Given the description of an element on the screen output the (x, y) to click on. 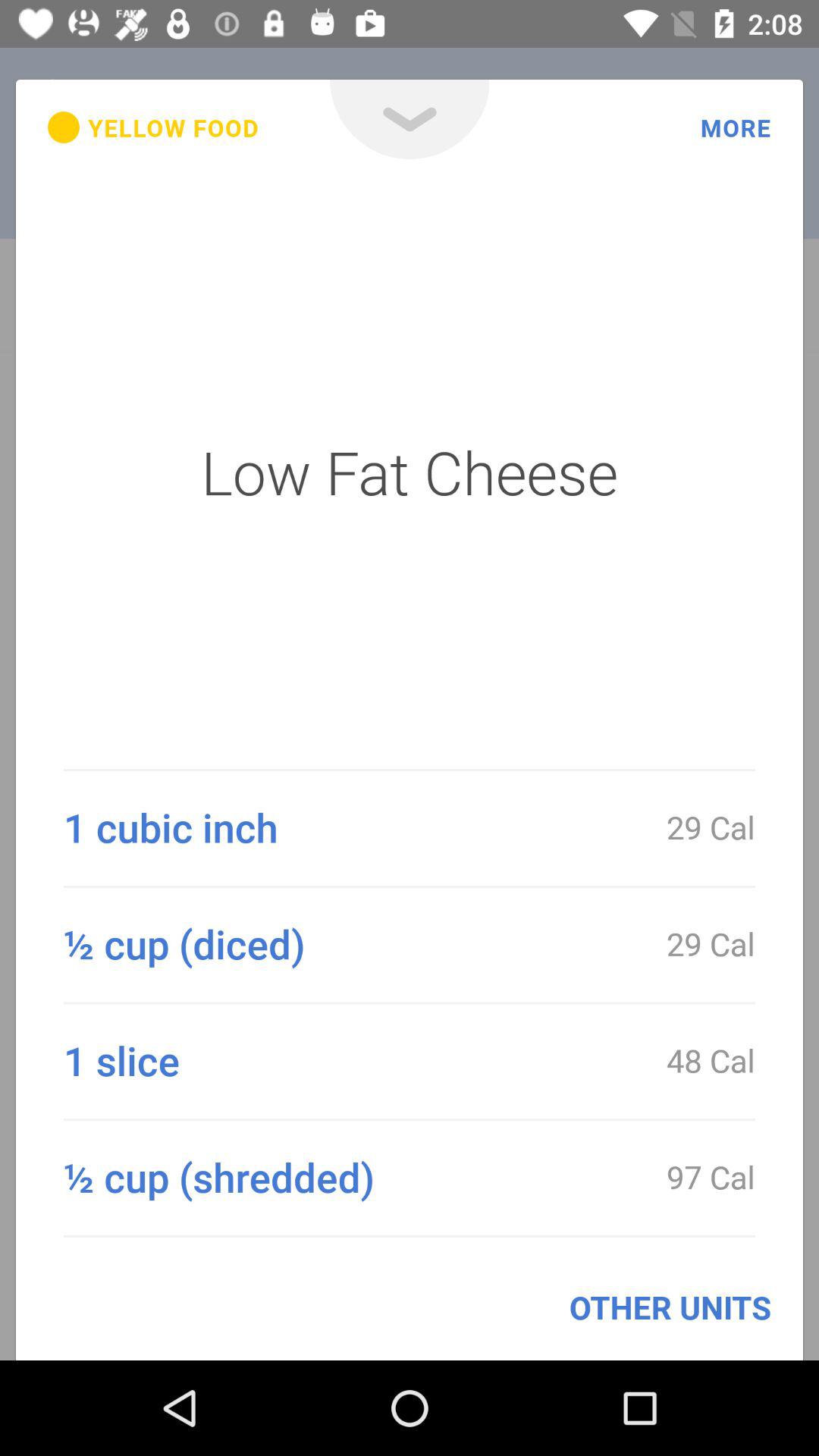
open icon at the top left corner (152, 127)
